Given the description of an element on the screen output the (x, y) to click on. 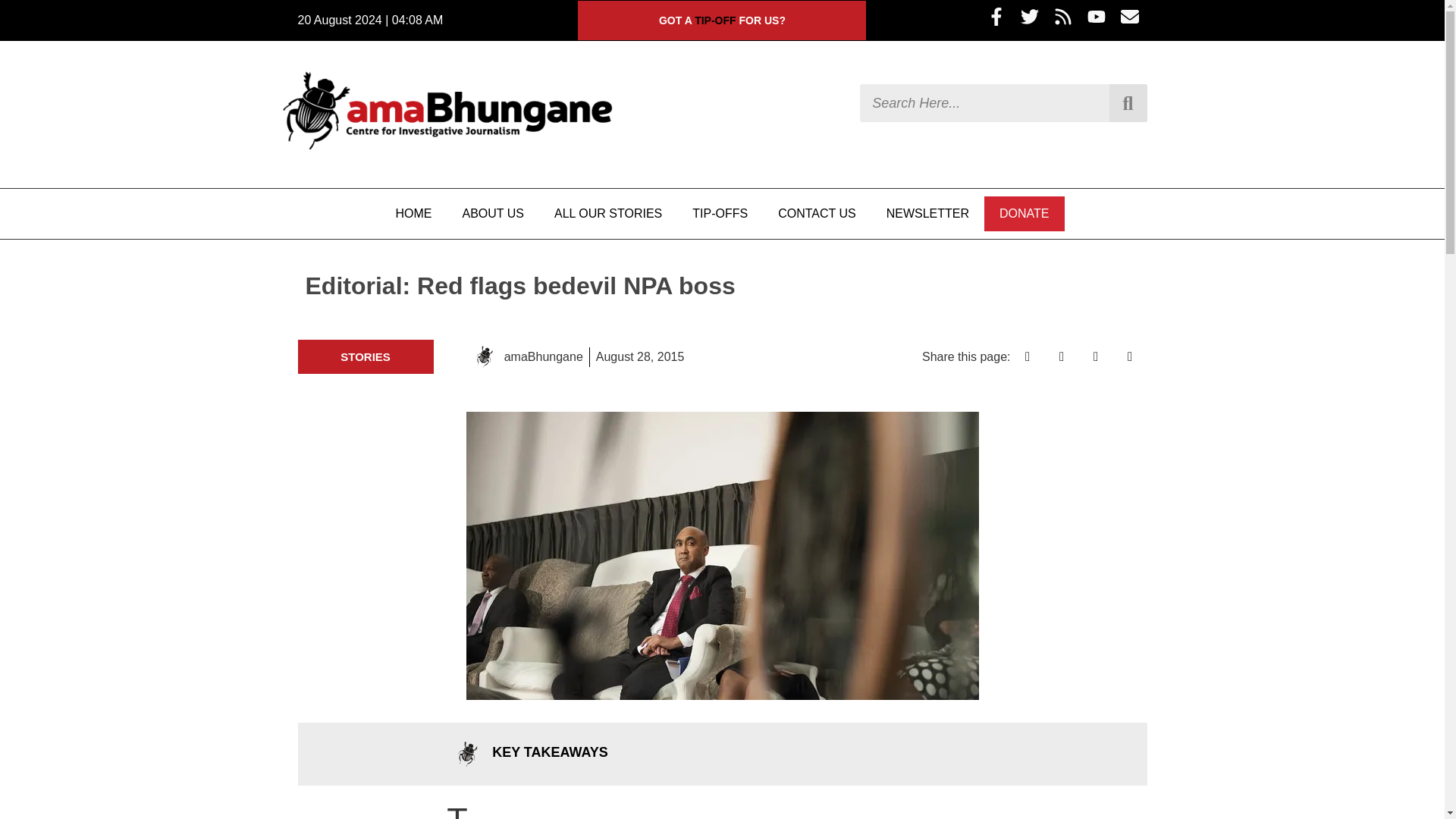
ALL OUR STORIES (607, 213)
ABOUT US (492, 213)
HOME (413, 213)
GOT A TIP-OFF FOR US? (722, 20)
